Given the description of an element on the screen output the (x, y) to click on. 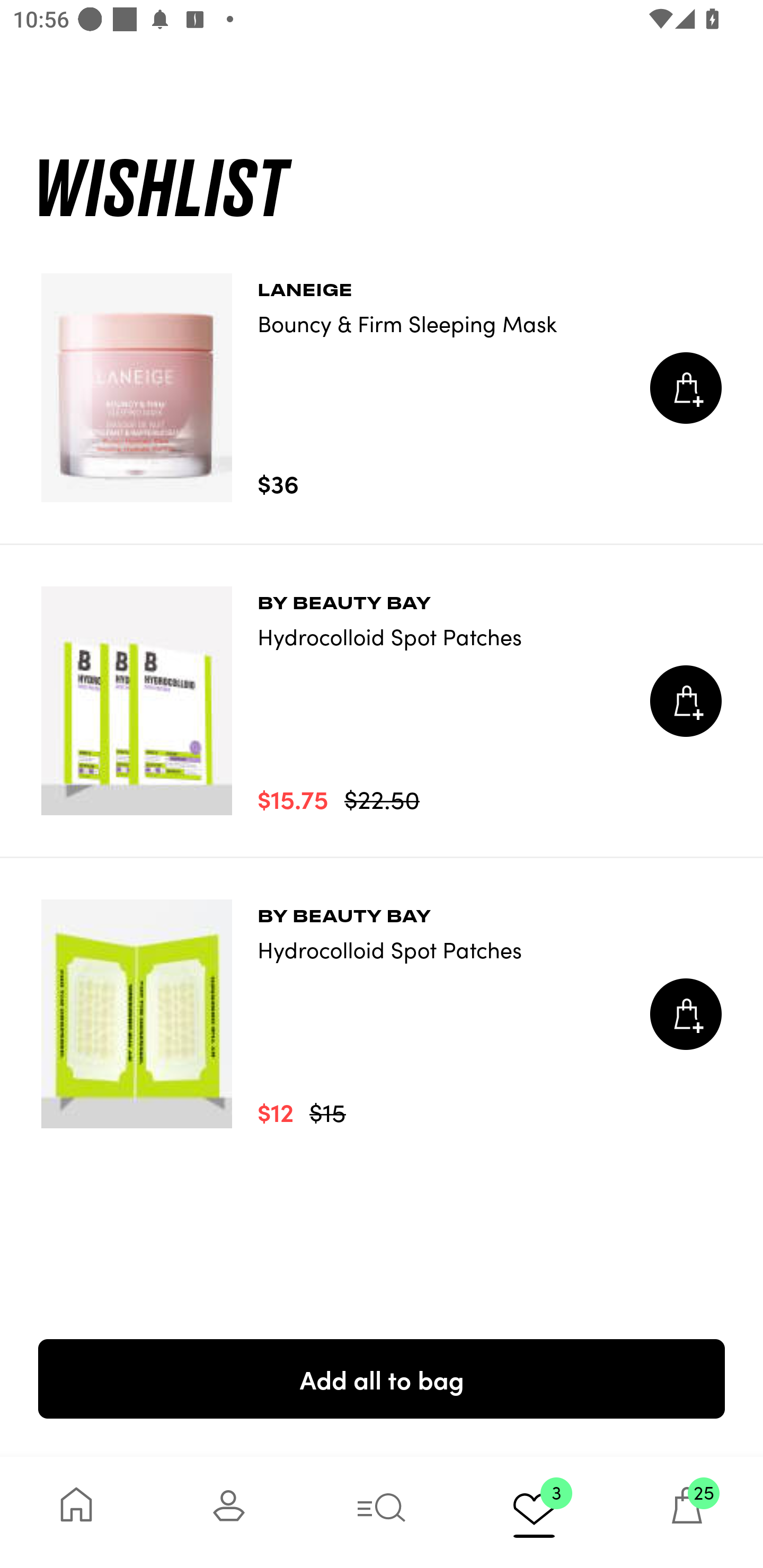
LANEIGE Bouncy & Firm Sleeping Mask $36 (381, 388)
BY BEAUTY BAY Hydrocolloid Spot Patches $12 $15 (381, 1013)
Add all to bag (381, 1379)
3 (533, 1512)
25 (686, 1512)
